Given the description of an element on the screen output the (x, y) to click on. 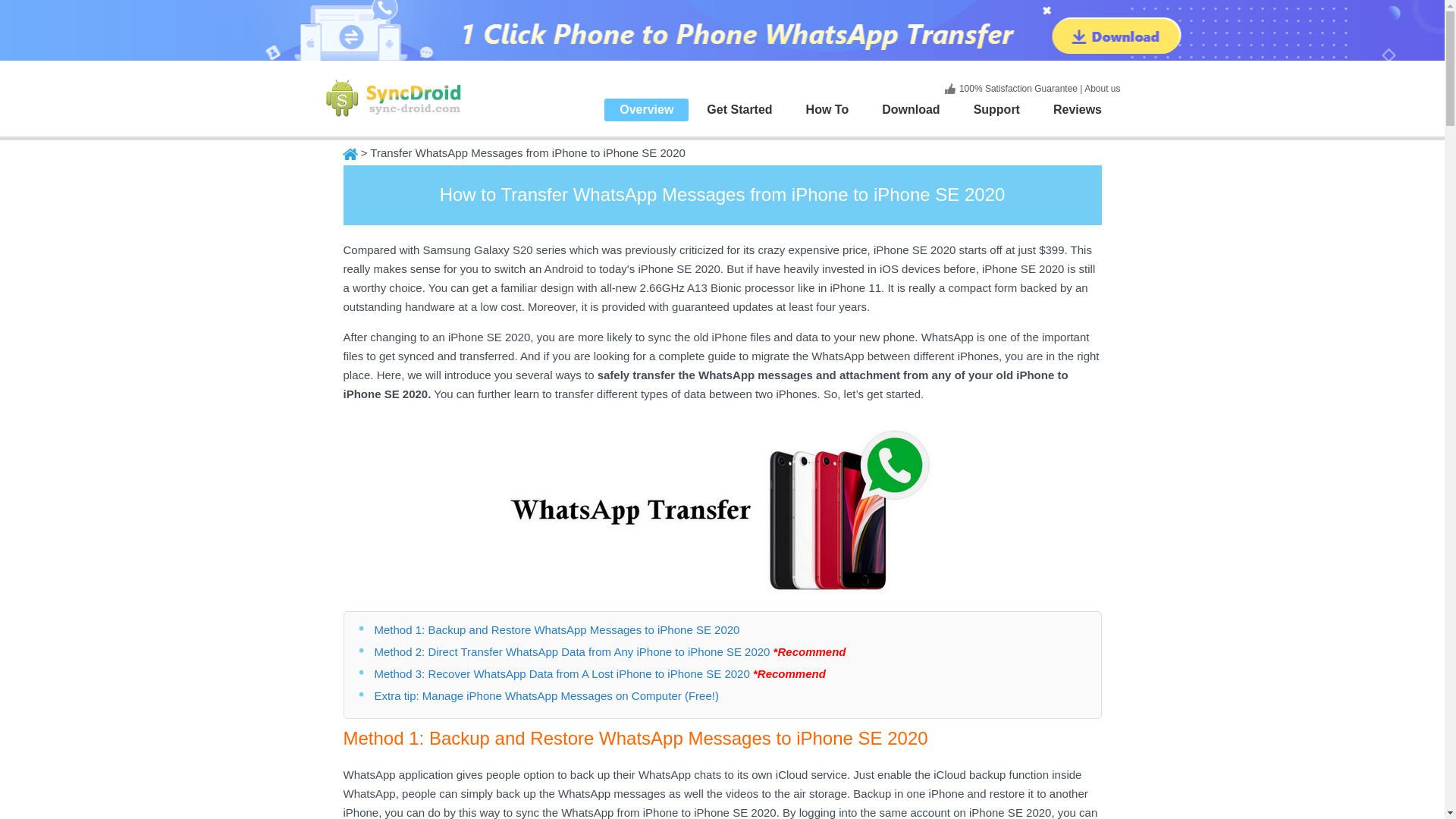
Reviews (1077, 109)
About us (1101, 88)
Support (996, 109)
Overview (646, 109)
Get Started (739, 109)
SyncDroid (396, 98)
Download (910, 109)
How To (827, 109)
